Given the description of an element on the screen output the (x, y) to click on. 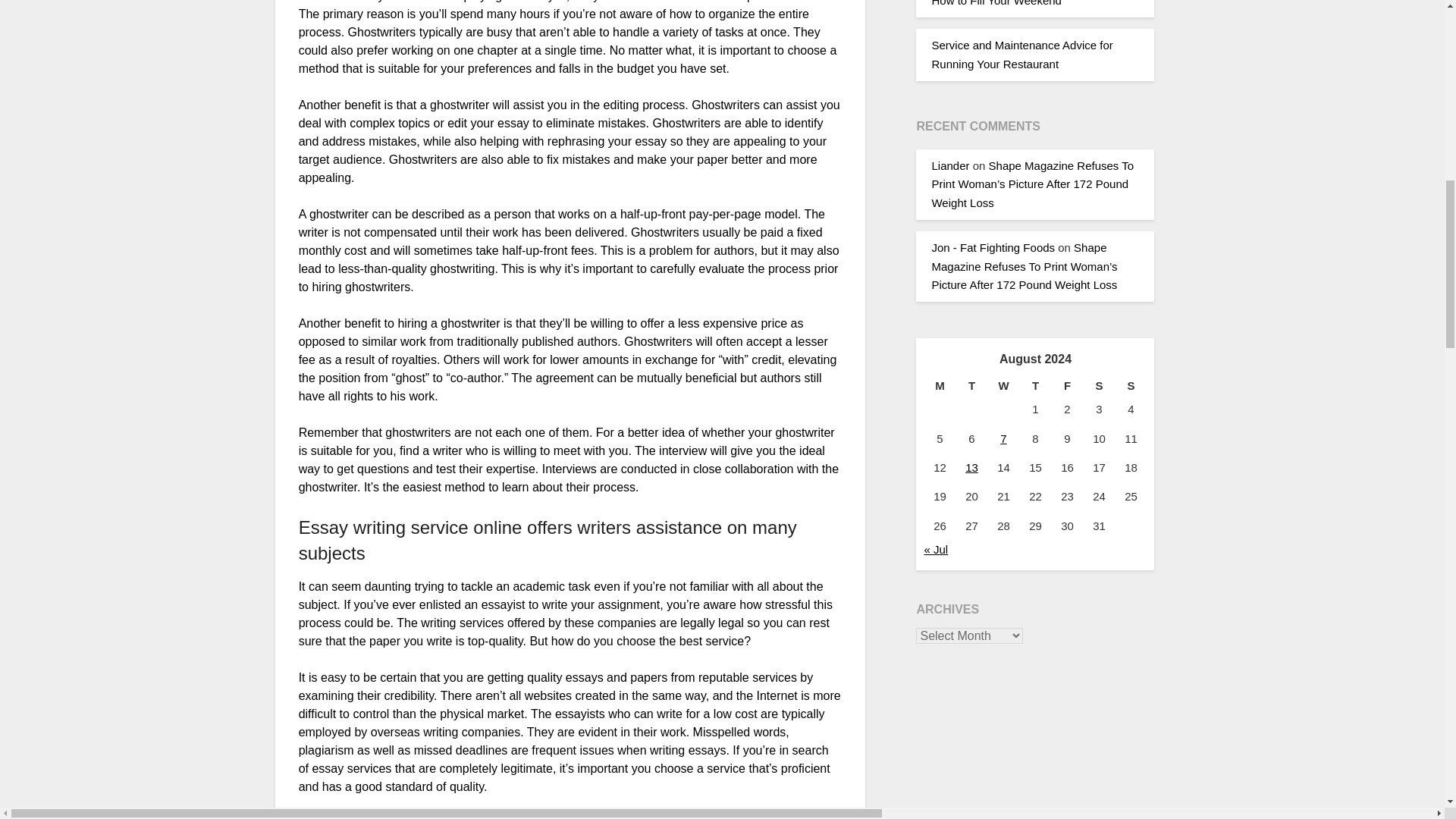
How to Fill Your Weekend (996, 3)
Liander (950, 164)
Friday (1067, 385)
Sunday (1131, 385)
13 (971, 467)
Tuesday (971, 385)
Jon - Fat Fighting Foods (992, 246)
Thursday (1035, 385)
Saturday (1099, 385)
Wednesday (1003, 385)
